Given the description of an element on the screen output the (x, y) to click on. 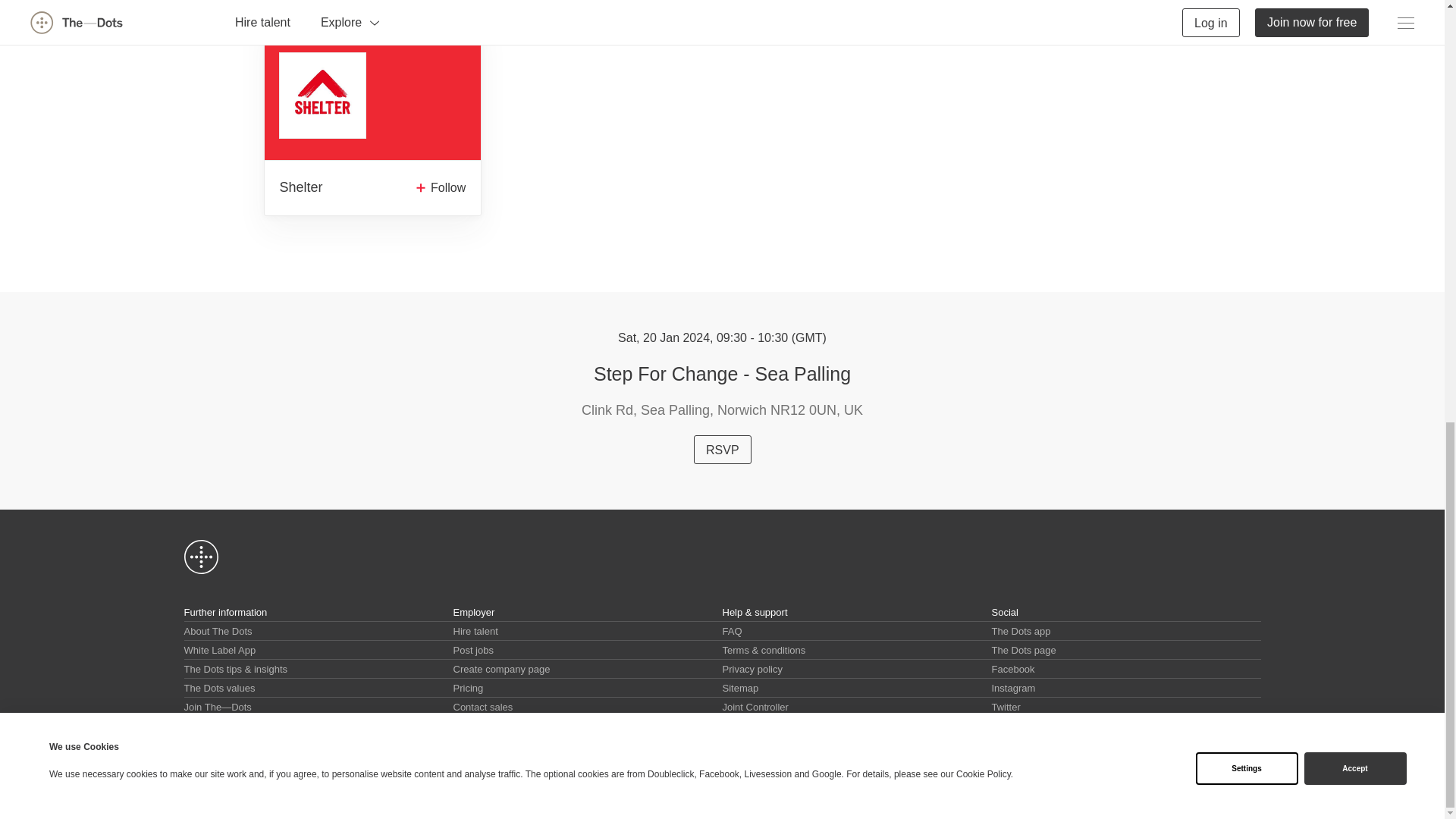
About The Dots (217, 631)
Pricing (467, 687)
Post jobs (472, 650)
RSVP (722, 449)
FAQ (731, 631)
Privacy policy (751, 668)
Hire talent (474, 631)
White Label App (219, 650)
Sitemap (740, 687)
Create company page (501, 668)
Contact sales (482, 706)
Follow (437, 187)
The Dots values (218, 687)
Shelter (300, 188)
